Given the description of an element on the screen output the (x, y) to click on. 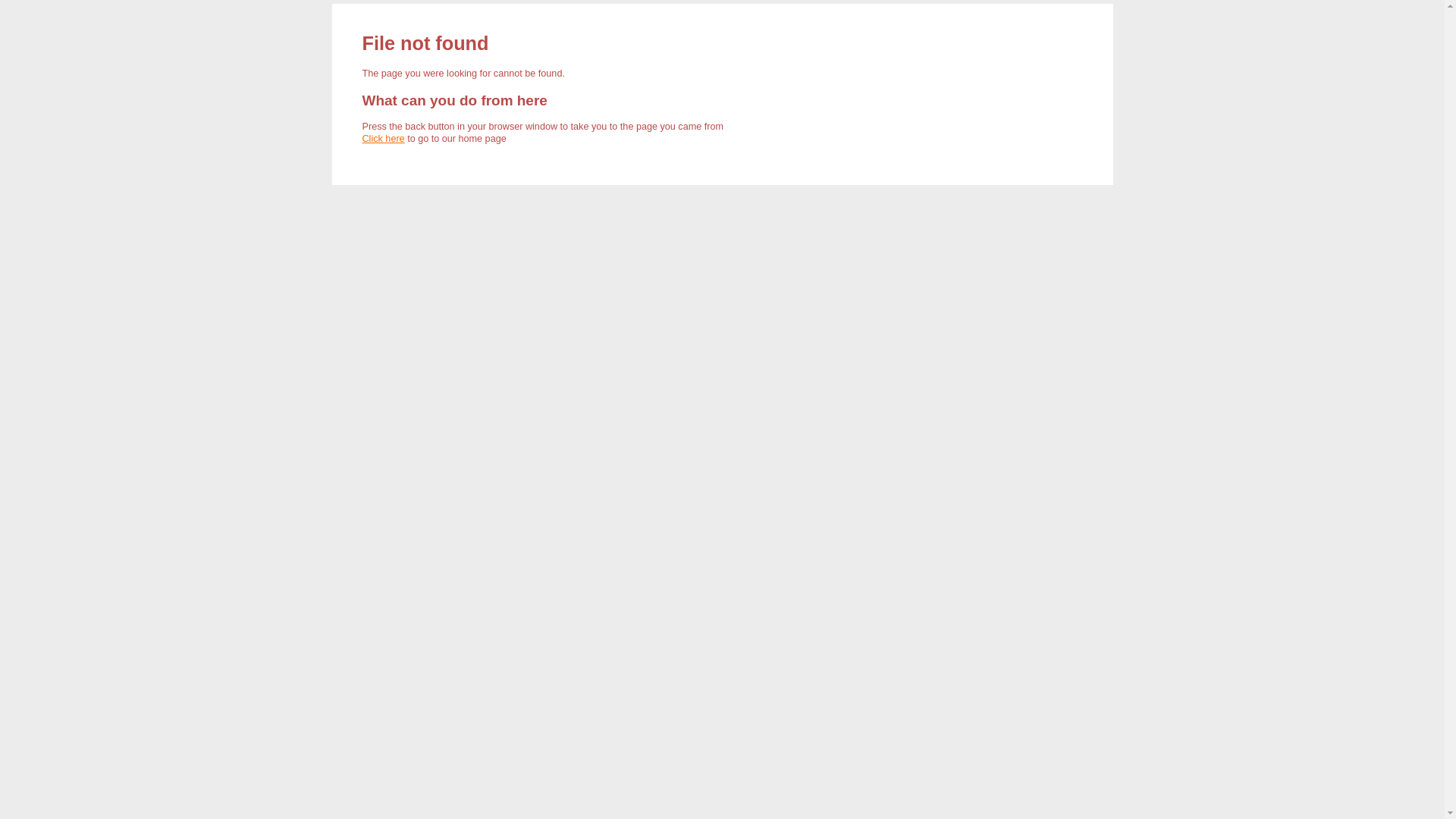
Click here (383, 138)
